Given the description of an element on the screen output the (x, y) to click on. 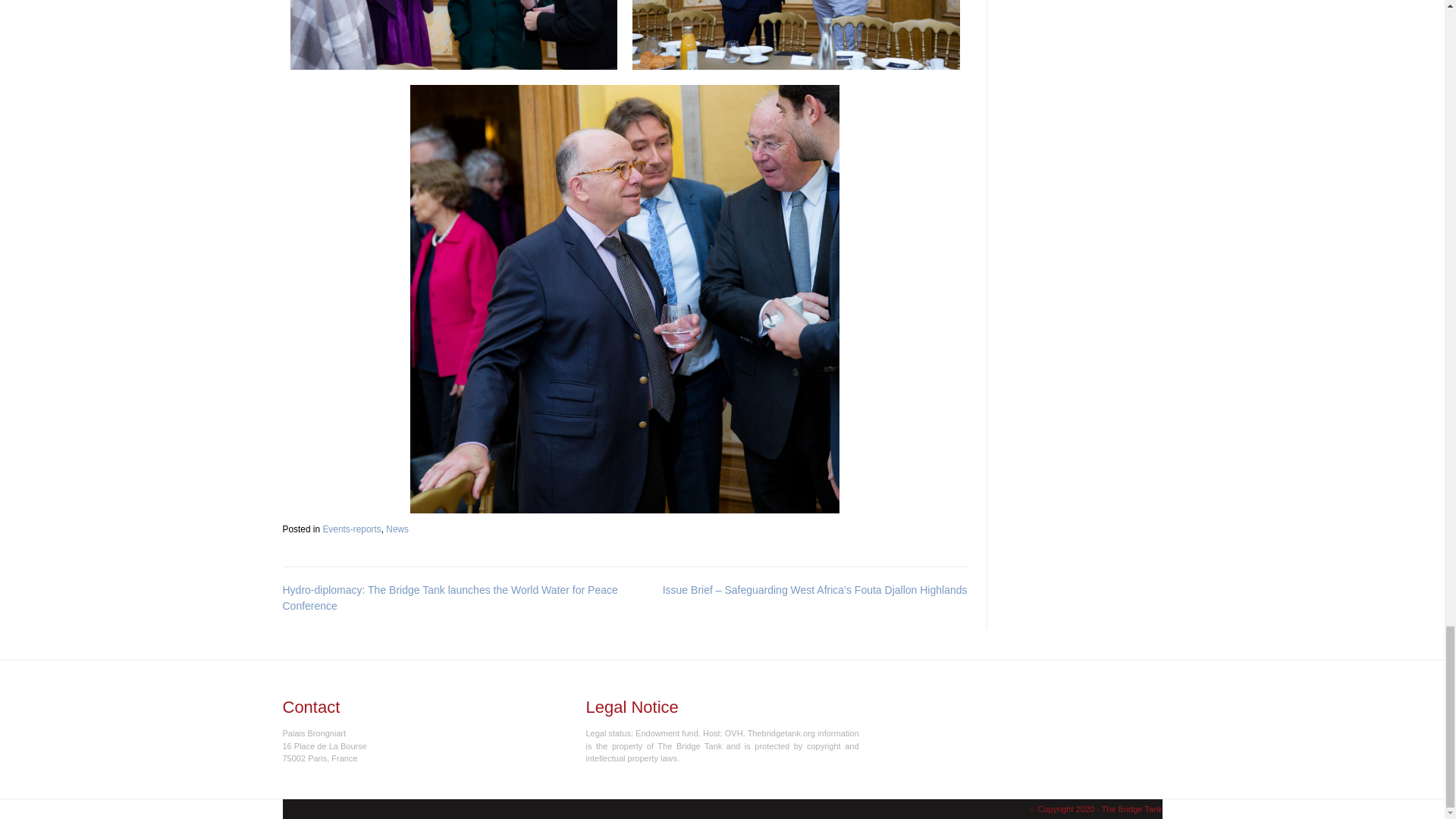
News (397, 529)
Events-reports (350, 529)
